Given the description of an element on the screen output the (x, y) to click on. 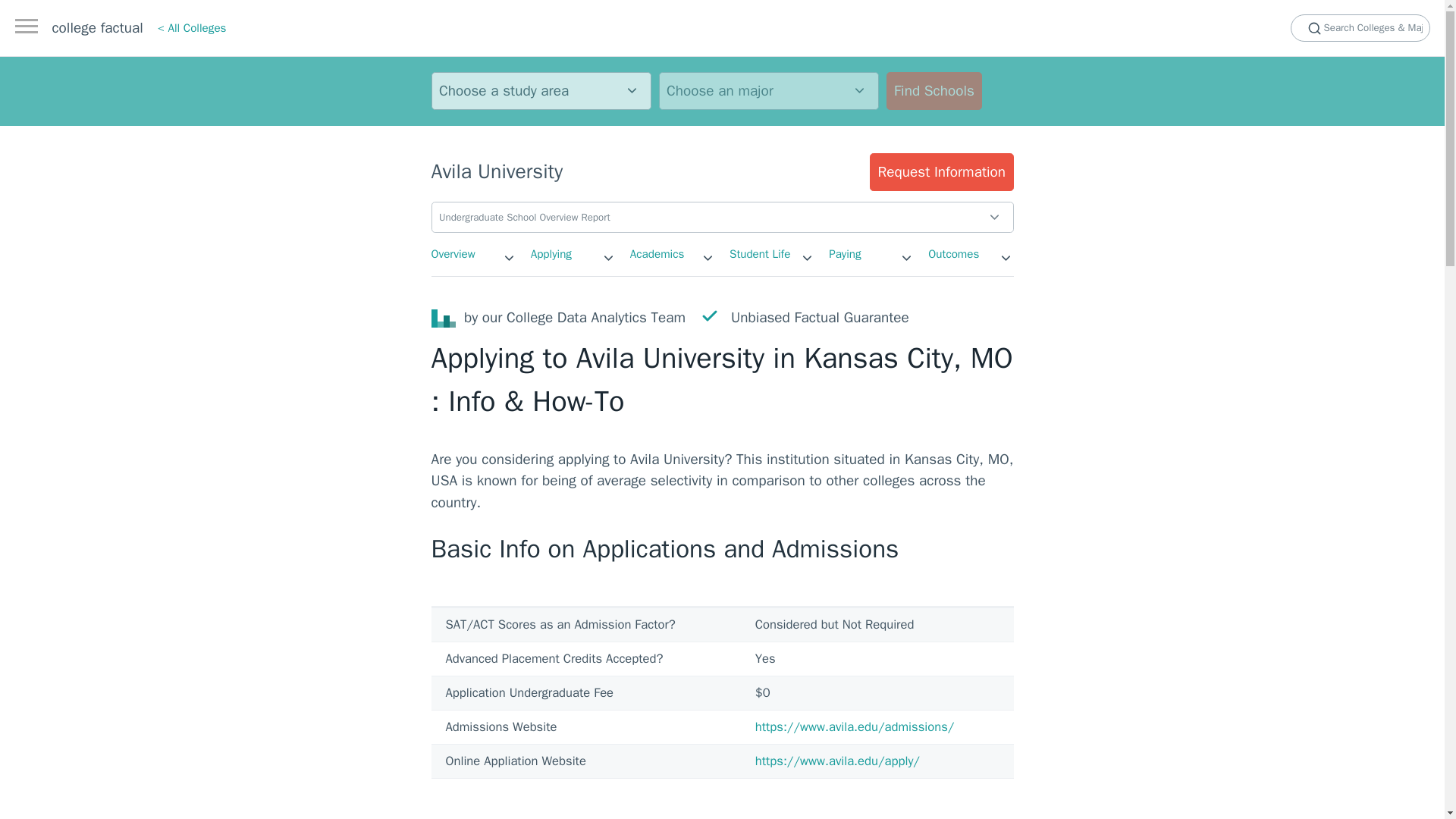
Student Life (759, 253)
Outcomes (953, 253)
Overview (452, 253)
Applying (551, 253)
Paying (844, 253)
Find Schools (933, 90)
college factual (97, 27)
Request Information (941, 171)
Academics (657, 253)
